Given the description of an element on the screen output the (x, y) to click on. 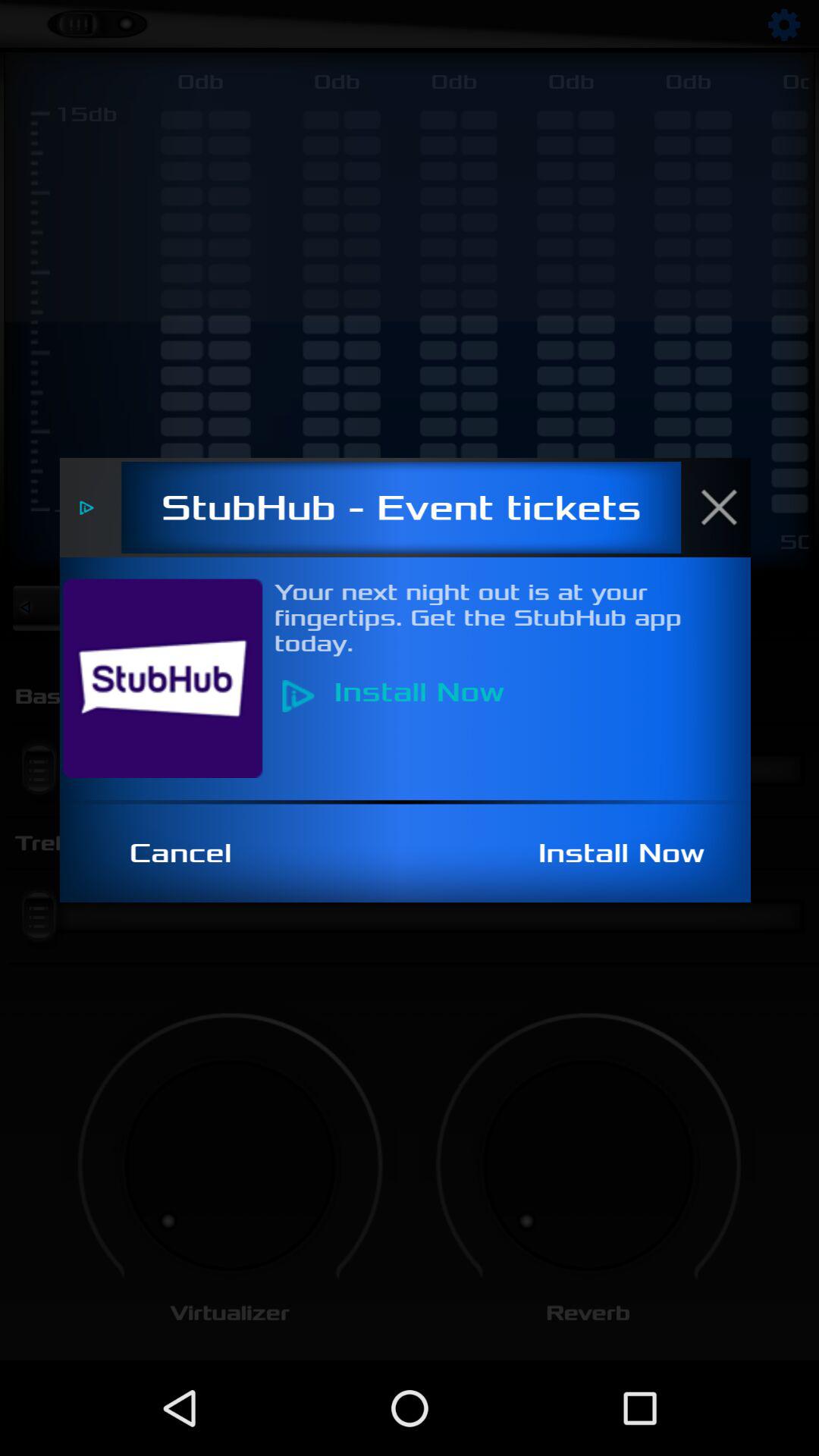
choose the icon next to install now (188, 853)
